Given the description of an element on the screen output the (x, y) to click on. 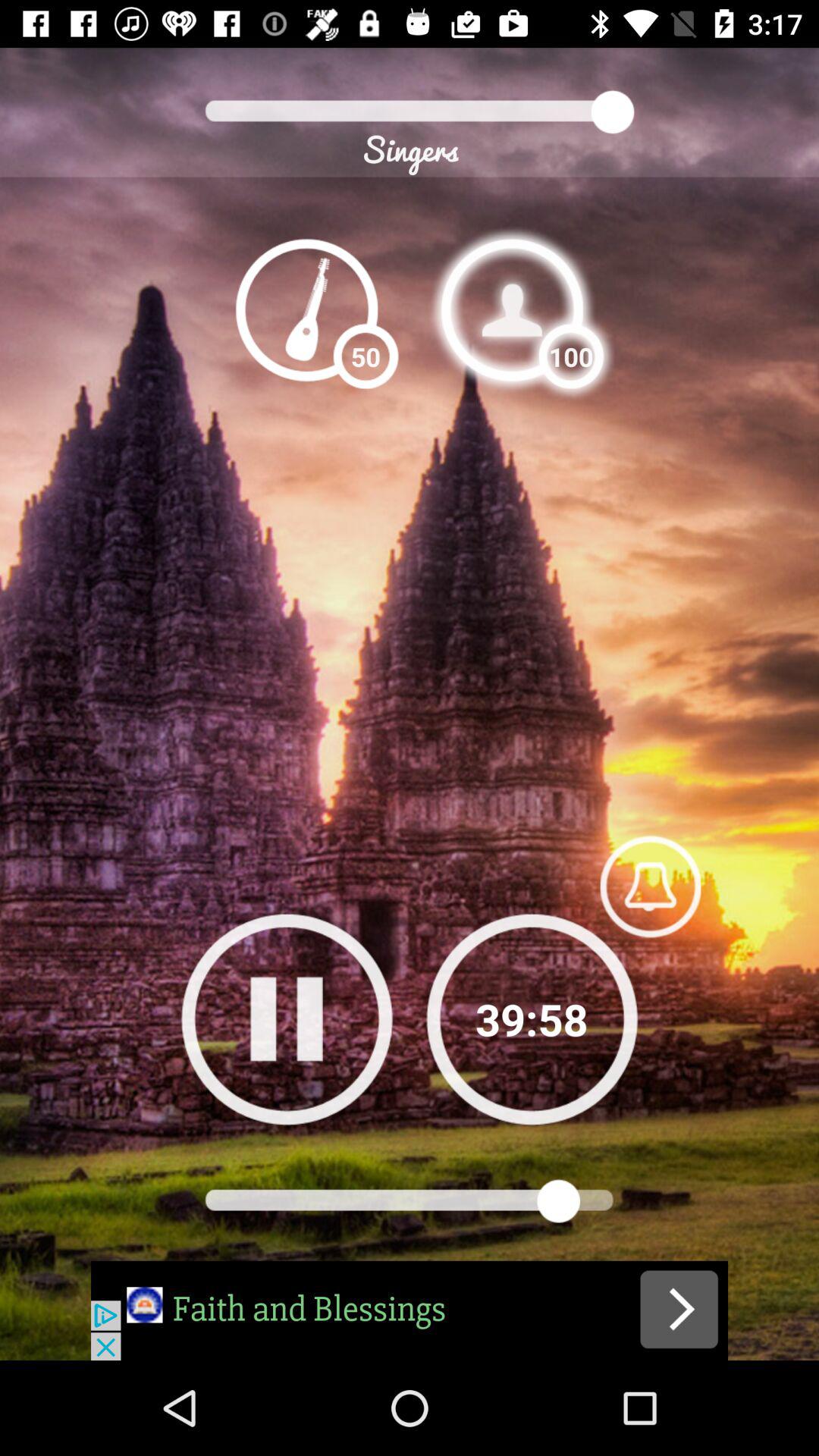
play the song (409, 1310)
